Given the description of an element on the screen output the (x, y) to click on. 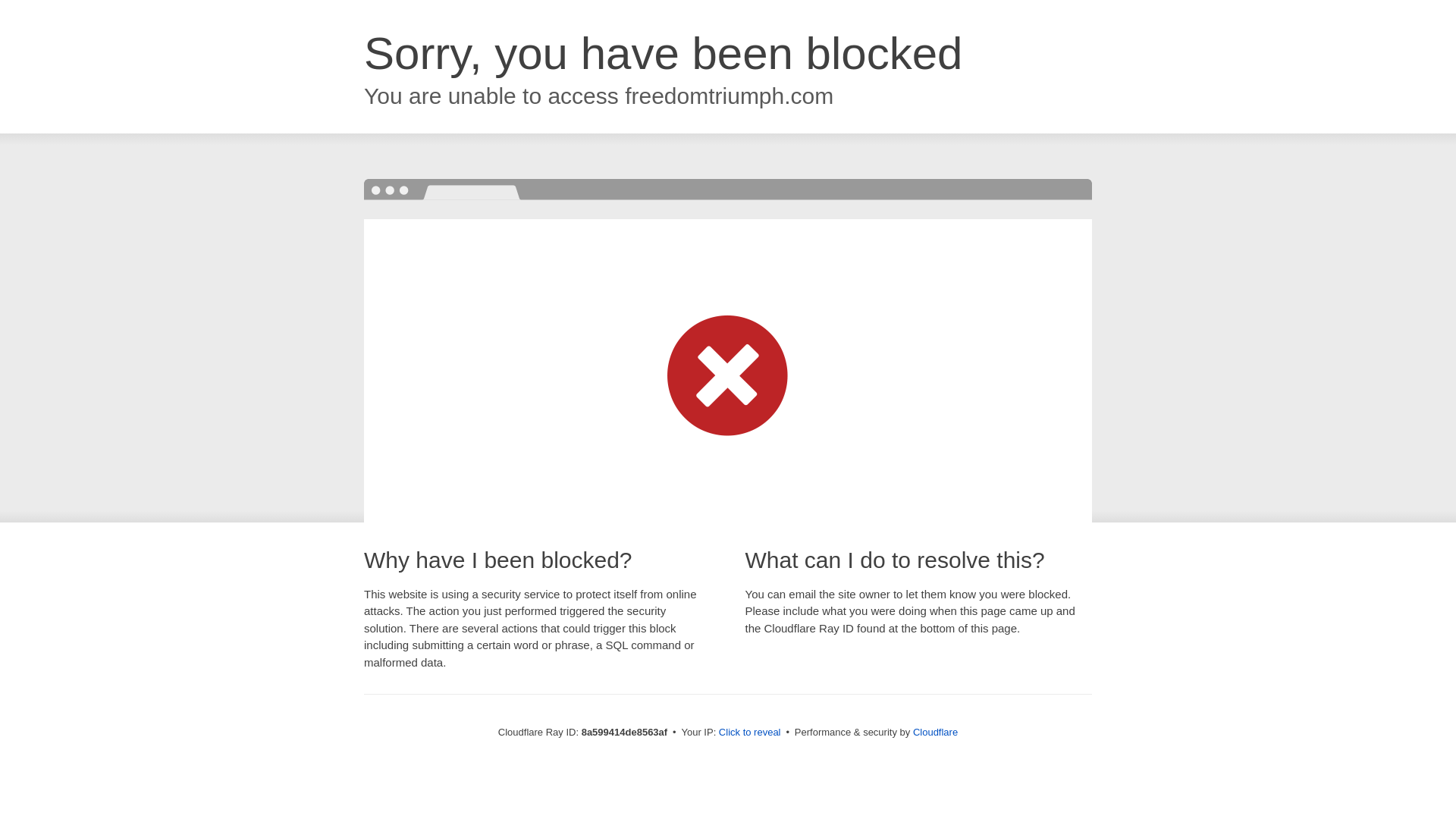
Click to reveal (749, 732)
Cloudflare (935, 731)
